Given the description of an element on the screen output the (x, y) to click on. 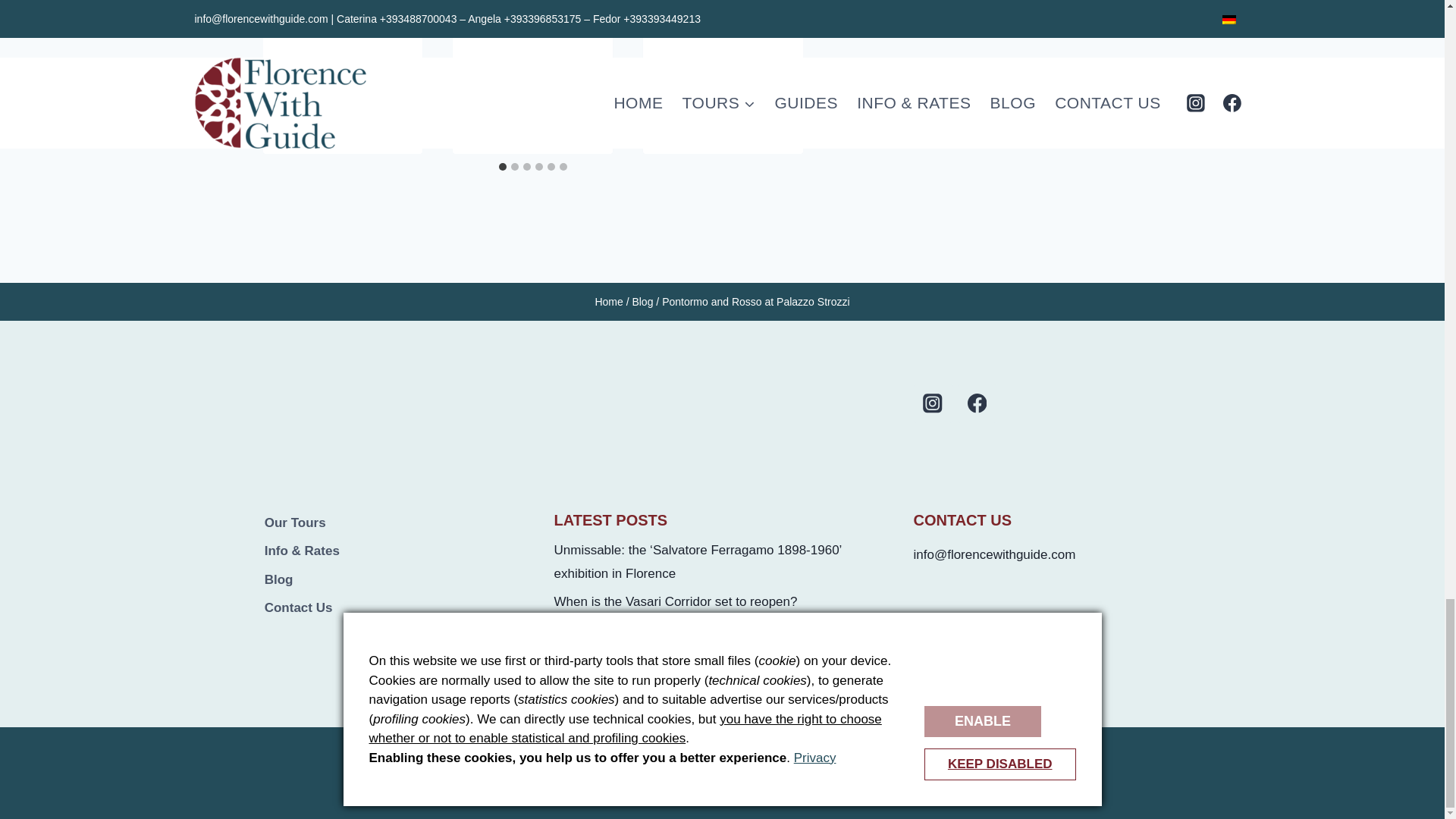
The wise princess: Anna Maria Medici (329, 94)
